Given the description of an element on the screen output the (x, y) to click on. 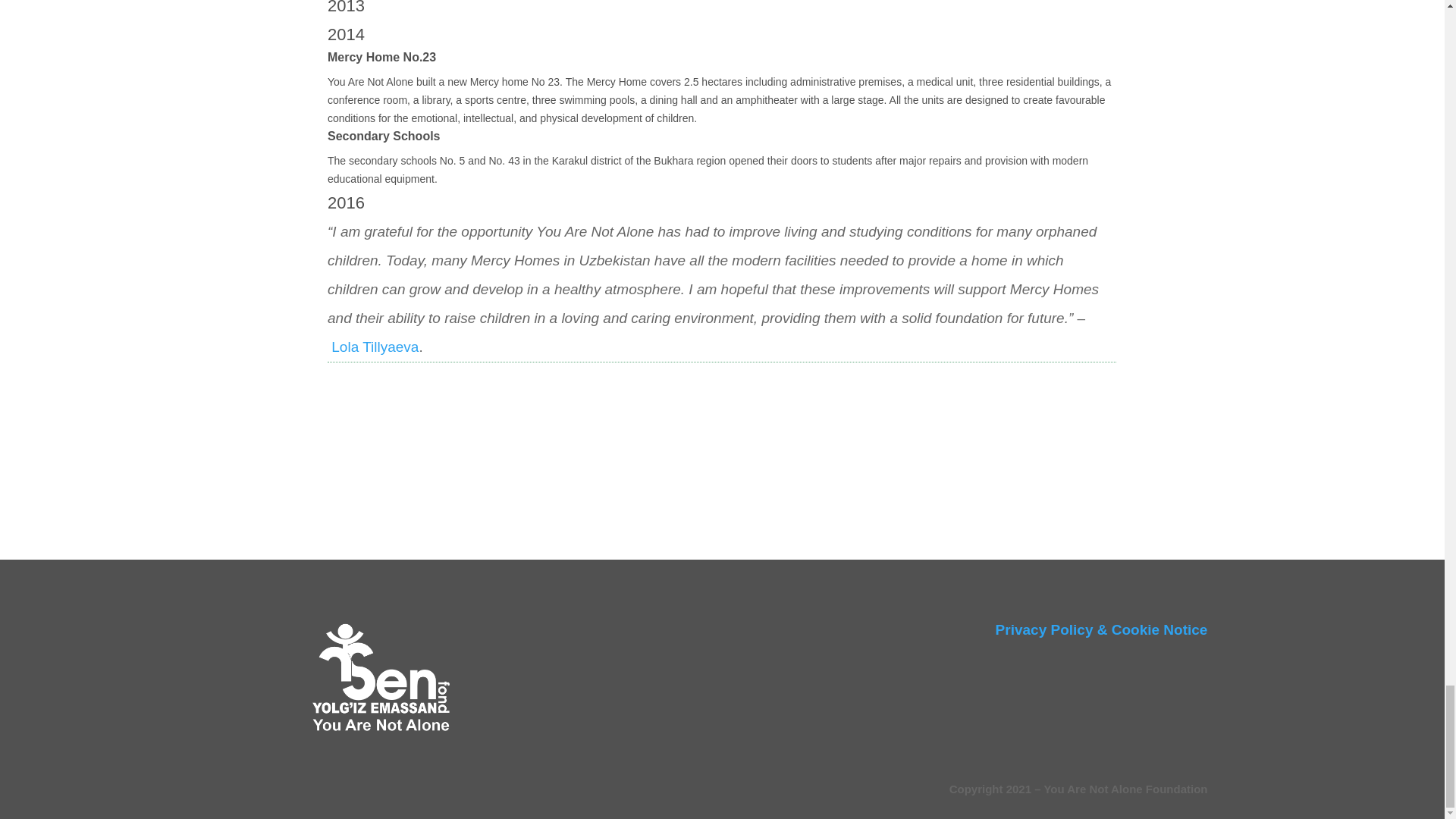
sen-uzArtboard 1 (380, 680)
Lola Tillyaeva (375, 346)
